Given the description of an element on the screen output the (x, y) to click on. 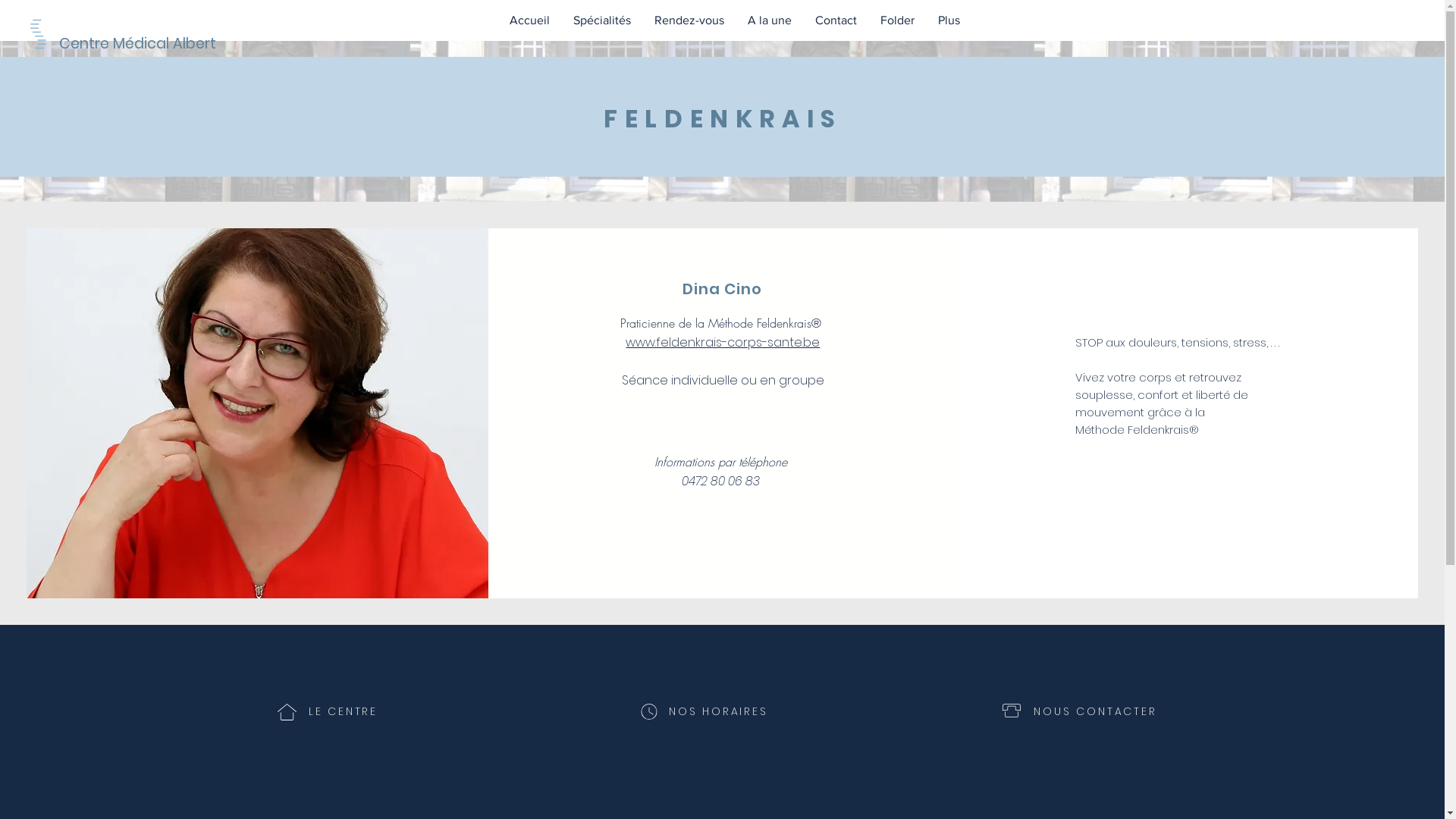
www.feldenkrais-corps-sante.be Element type: text (722, 342)
A la une Element type: text (769, 20)
Accueil Element type: text (529, 20)
Folder Element type: text (896, 20)
Contact Element type: text (834, 20)
Rendez-vous Element type: text (687, 20)
